Given the description of an element on the screen output the (x, y) to click on. 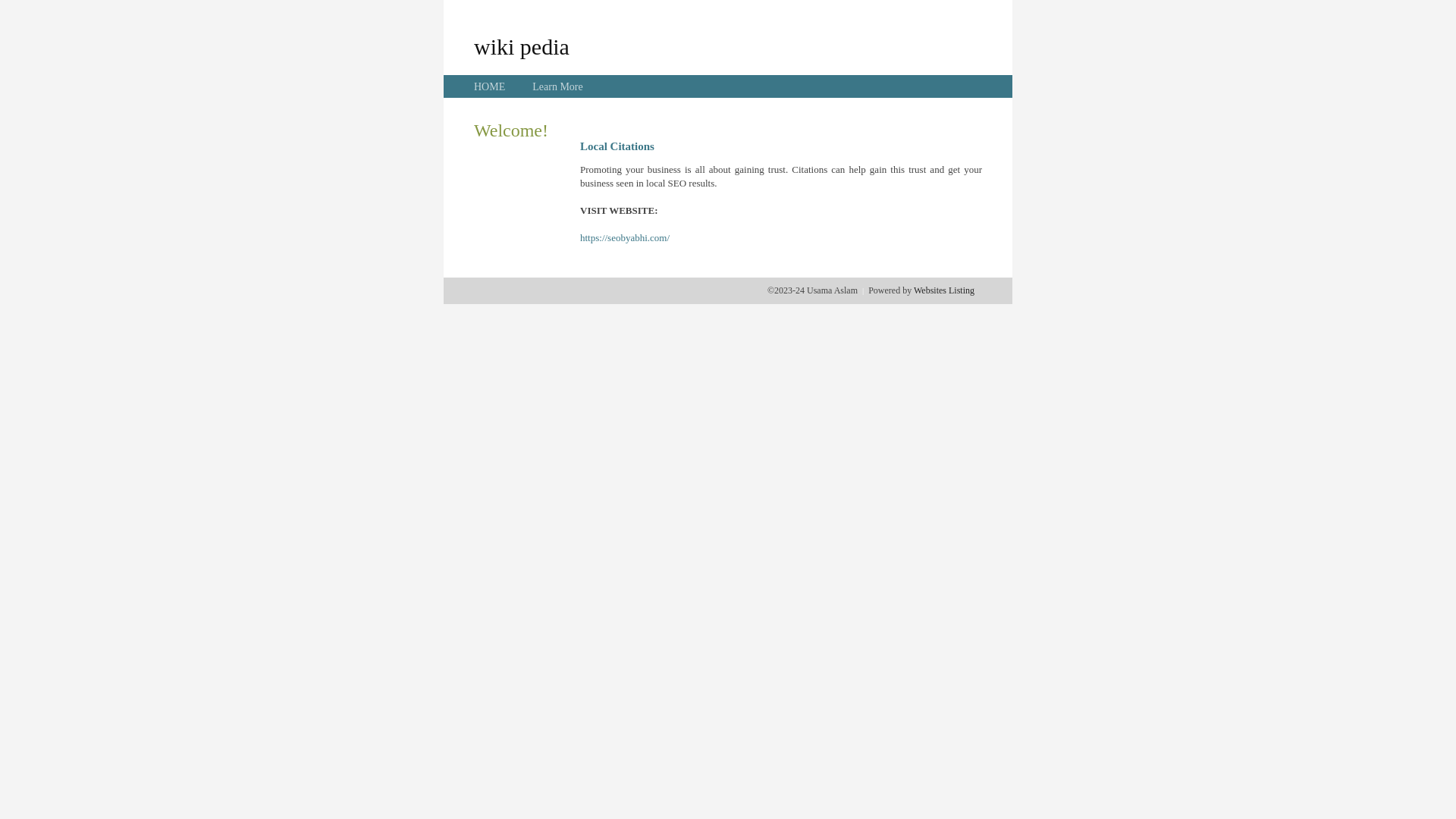
wiki pedia Element type: text (521, 46)
Websites Listing Element type: text (943, 290)
Learn More Element type: text (557, 86)
https://seobyabhi.com/ Element type: text (624, 237)
HOME Element type: text (489, 86)
